Given the description of an element on the screen output the (x, y) to click on. 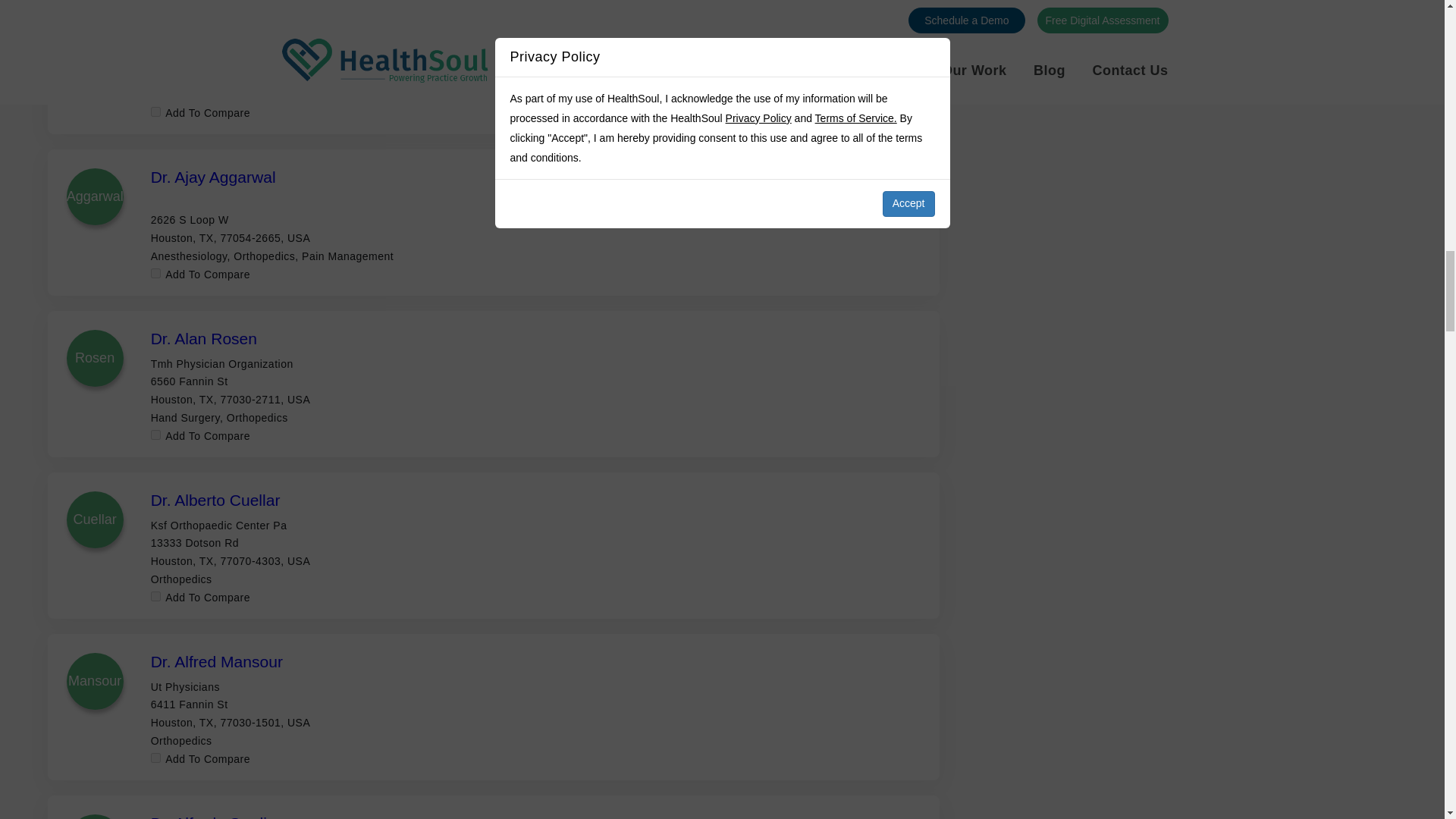
Dr. Alberto Cuellar (216, 499)
Dr. Ajay Aggarwal (213, 176)
Dr. Ajay Aggarwal (213, 176)
646167 (155, 112)
Dr. Adam Freedhand (224, 15)
Dr. Alan Rosen (204, 338)
648279 (155, 273)
Dr. Adam Freedhand (224, 15)
Dr. Alan Rosen (204, 338)
1070002 (155, 434)
Dr. Alberto Cuellar (216, 499)
1075767 (155, 757)
1073510 (155, 596)
Dr. Alfred Mansour (216, 661)
